Given the description of an element on the screen output the (x, y) to click on. 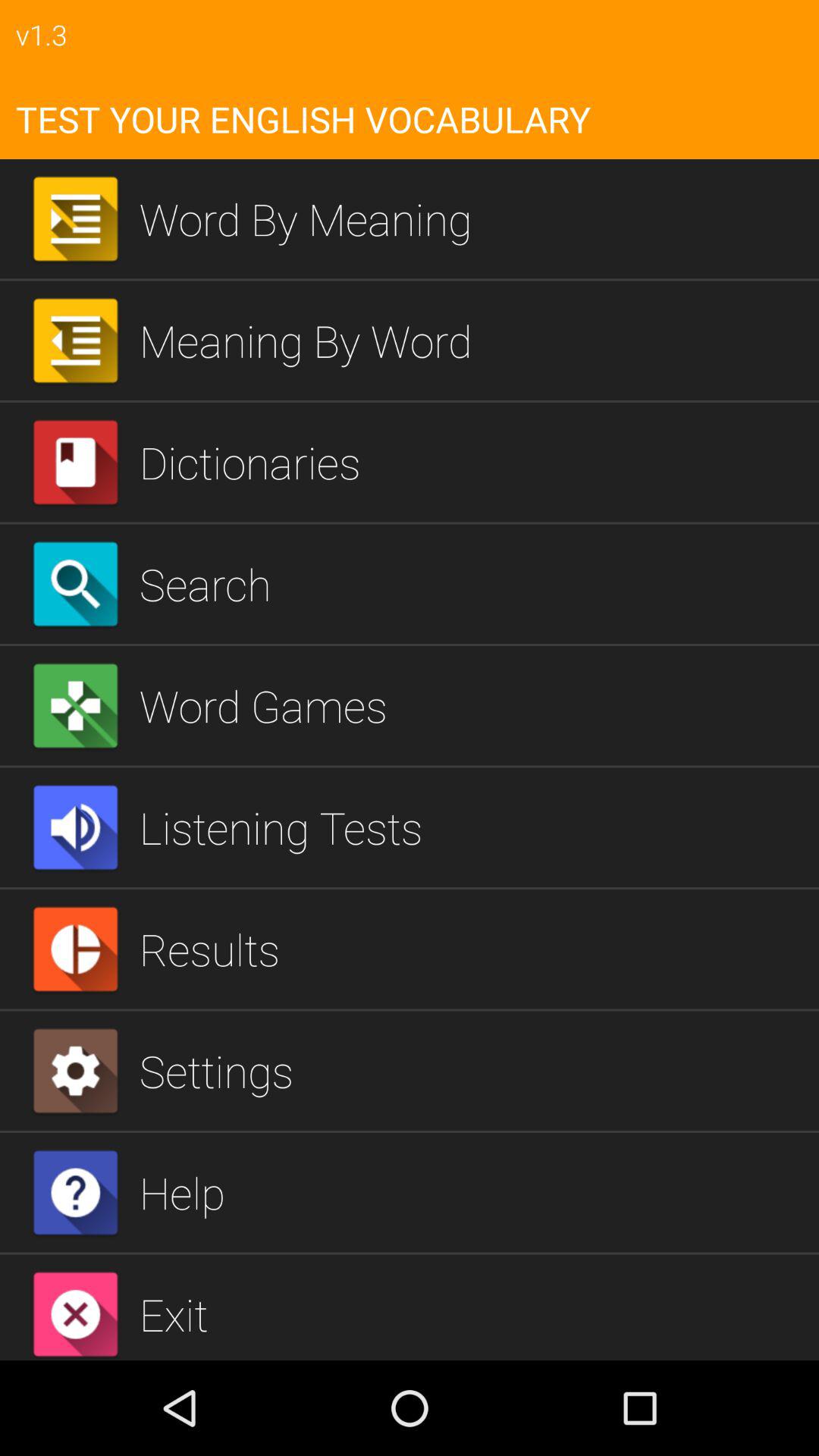
swipe until the dictionaries (473, 462)
